Given the description of an element on the screen output the (x, y) to click on. 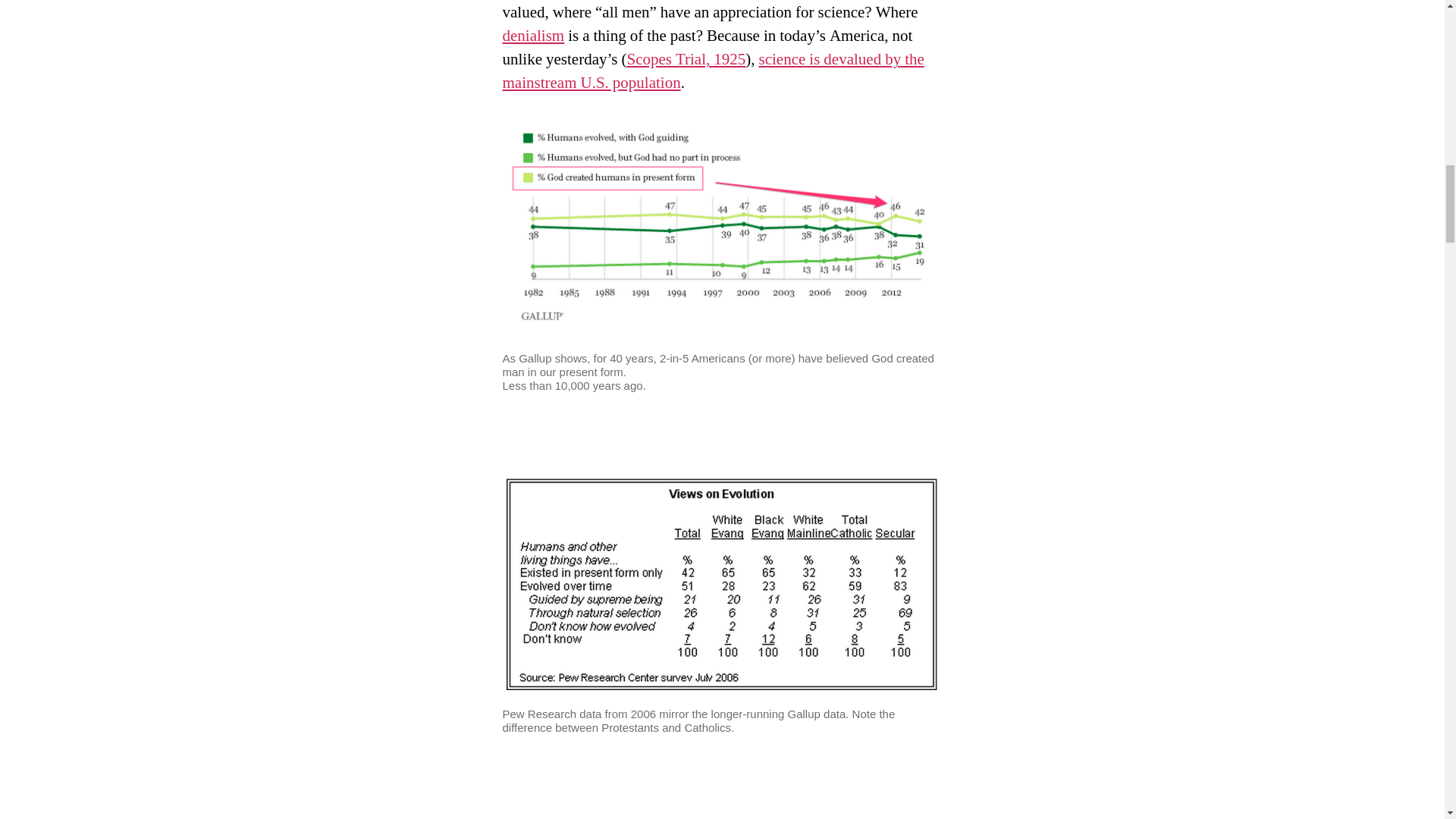
See Gallup data on belief in evolution (712, 71)
